Given the description of an element on the screen output the (x, y) to click on. 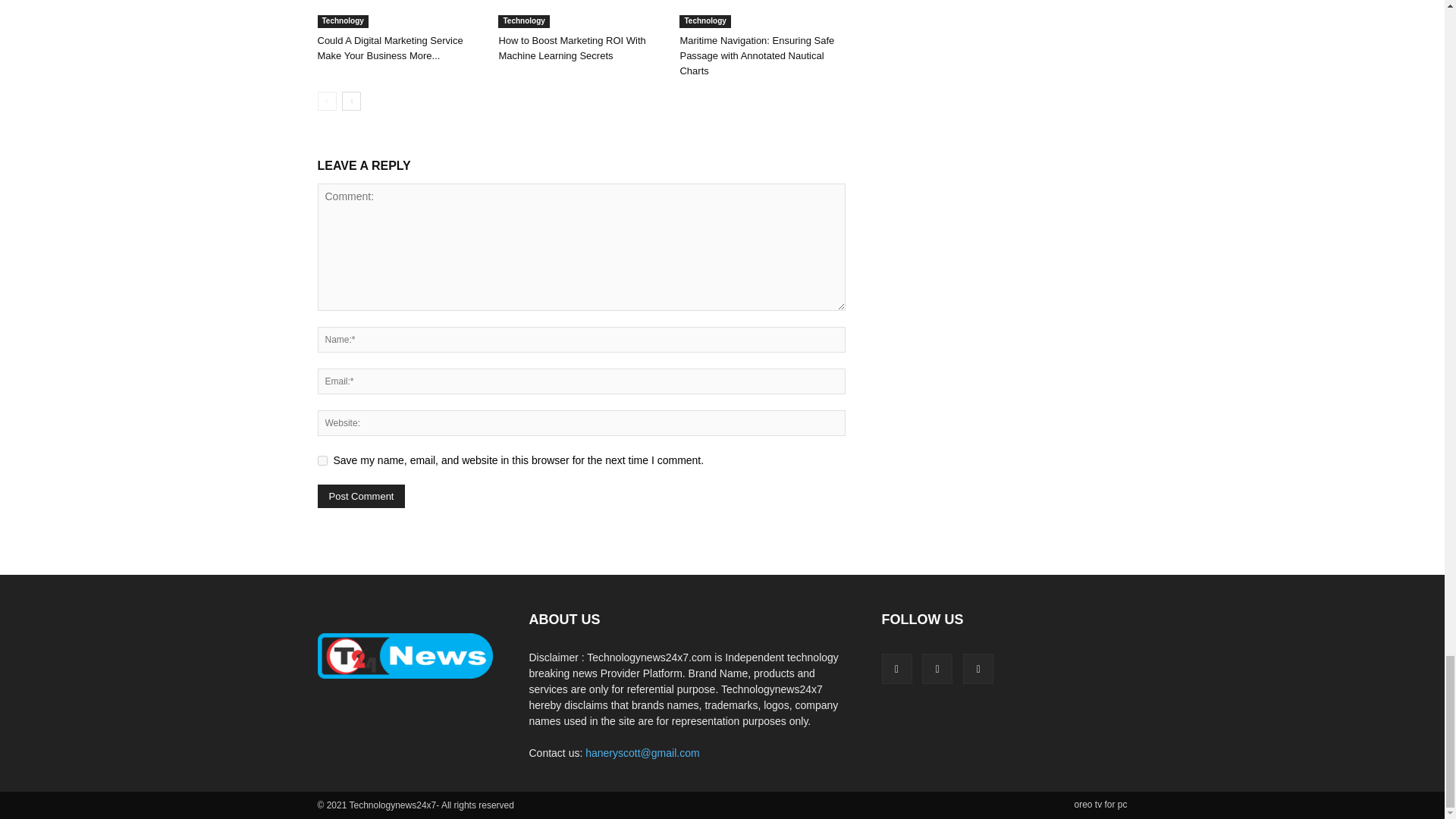
yes (321, 460)
Post Comment (360, 495)
